Given the description of an element on the screen output the (x, y) to click on. 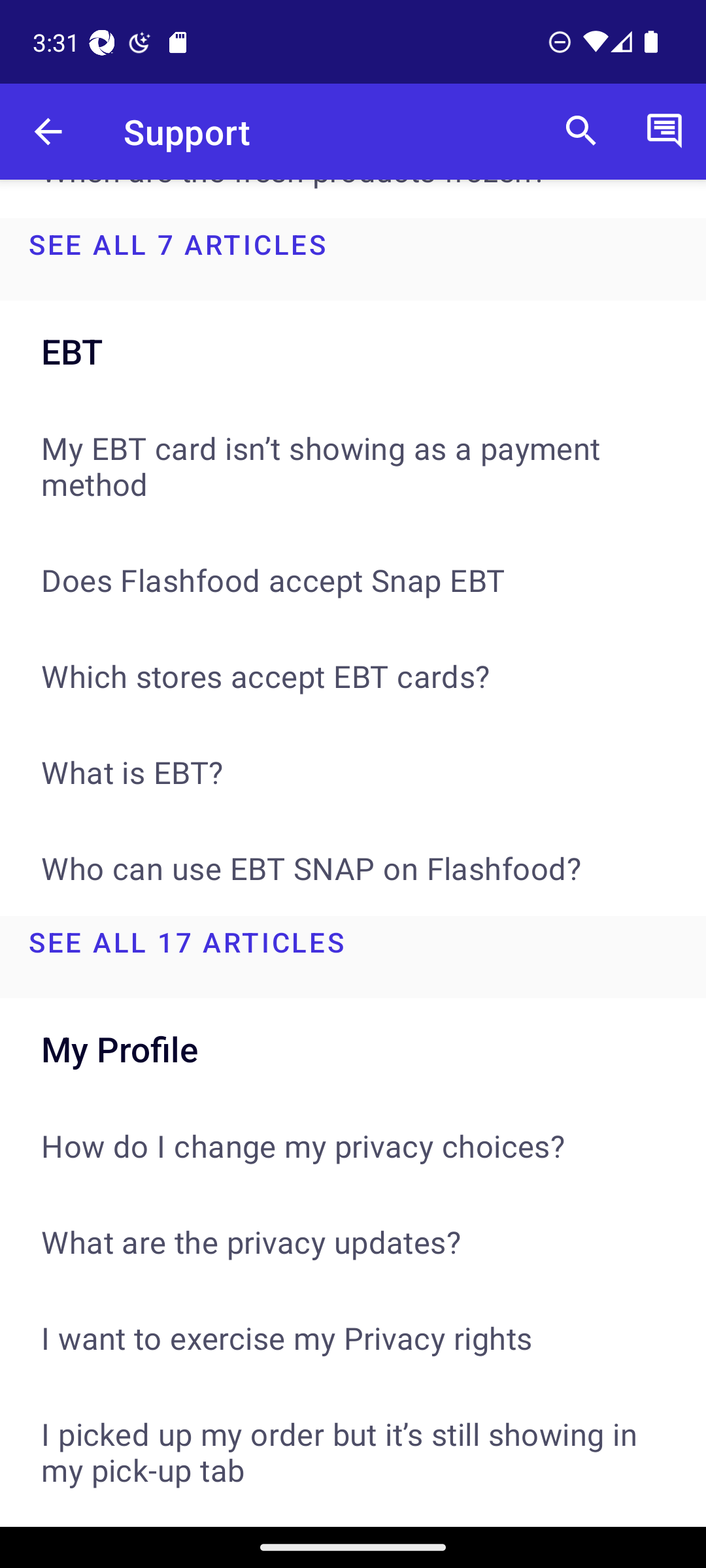
Navigate up (48, 131)
Search (581, 131)
Conversations (664, 131)
SEE ALL 7 ARTICLES (353, 259)
My EBT card isn’t showing as a payment method (353, 465)
Does Flashfood accept Snap EBT  (353, 579)
Which stores accept EBT cards? (353, 675)
What is EBT? (353, 772)
Who can use EBT SNAP on Flashfood? (353, 867)
SEE ALL 17 ARTICLES (353, 956)
How do I change my privacy choices? (353, 1145)
What are the privacy updates? (353, 1240)
I want to exercise my Privacy rights (353, 1337)
